Given the description of an element on the screen output the (x, y) to click on. 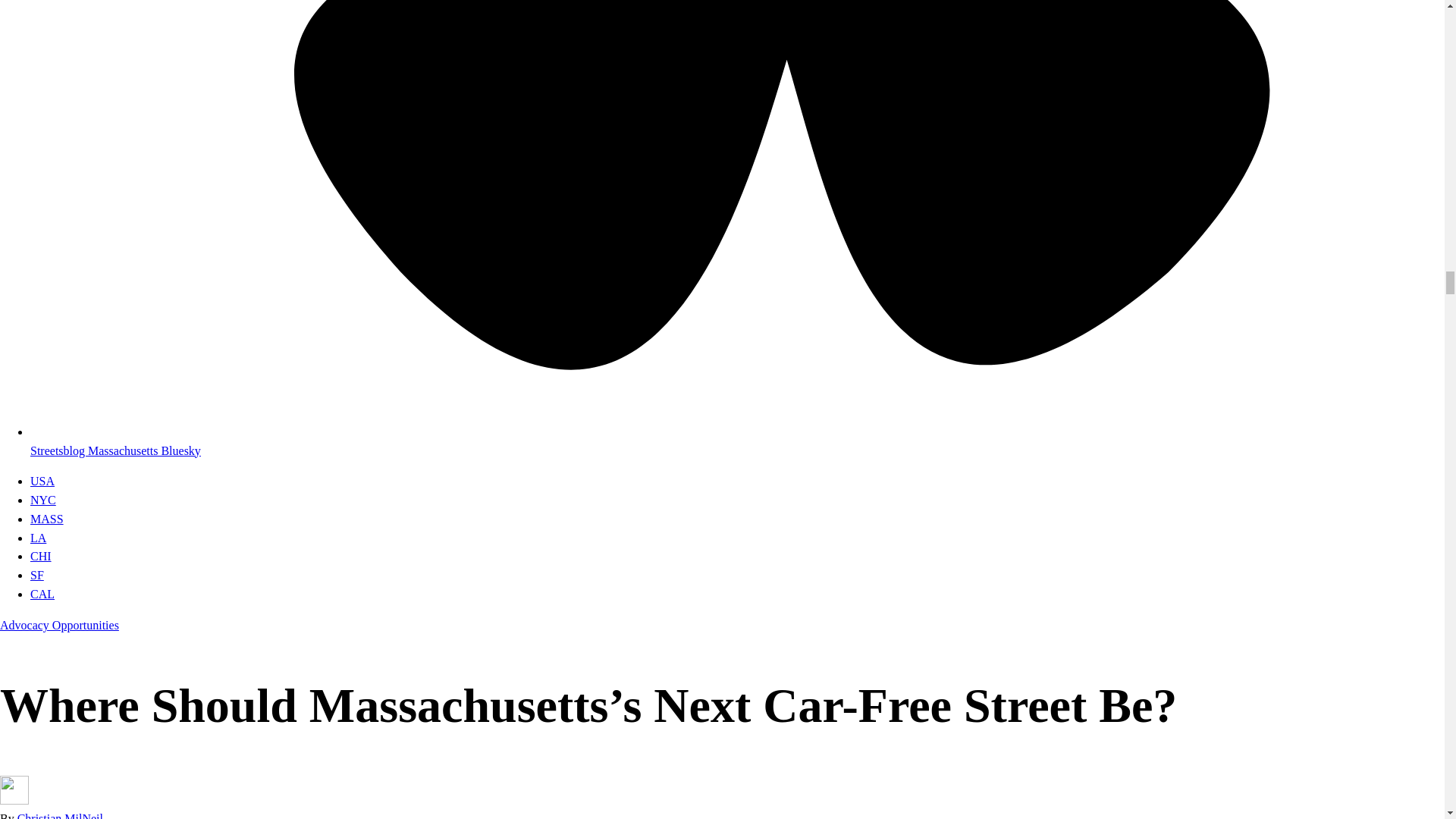
MASS (47, 518)
SF (36, 574)
CHI (40, 555)
LA (38, 537)
Advocacy Opportunities (59, 625)
Christian MilNeil (60, 815)
USA (42, 481)
NYC (43, 499)
CAL (42, 594)
